Given the description of an element on the screen output the (x, y) to click on. 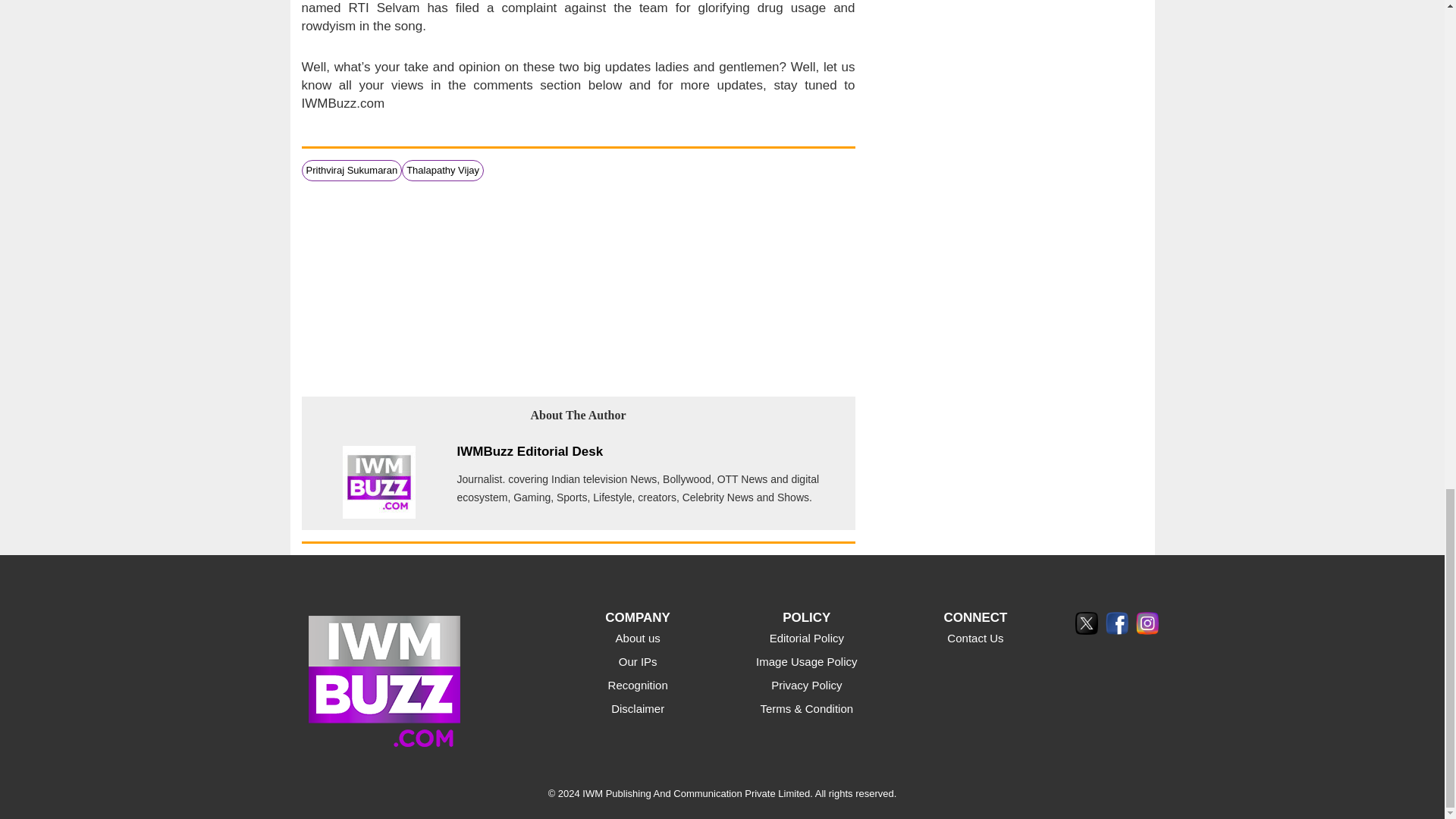
Prithviraj Sukumaran (351, 170)
Thalapathy Vijay (442, 170)
IWMBuzz Editorial Desk (529, 451)
3rd party ad content (577, 287)
